Given the description of an element on the screen output the (x, y) to click on. 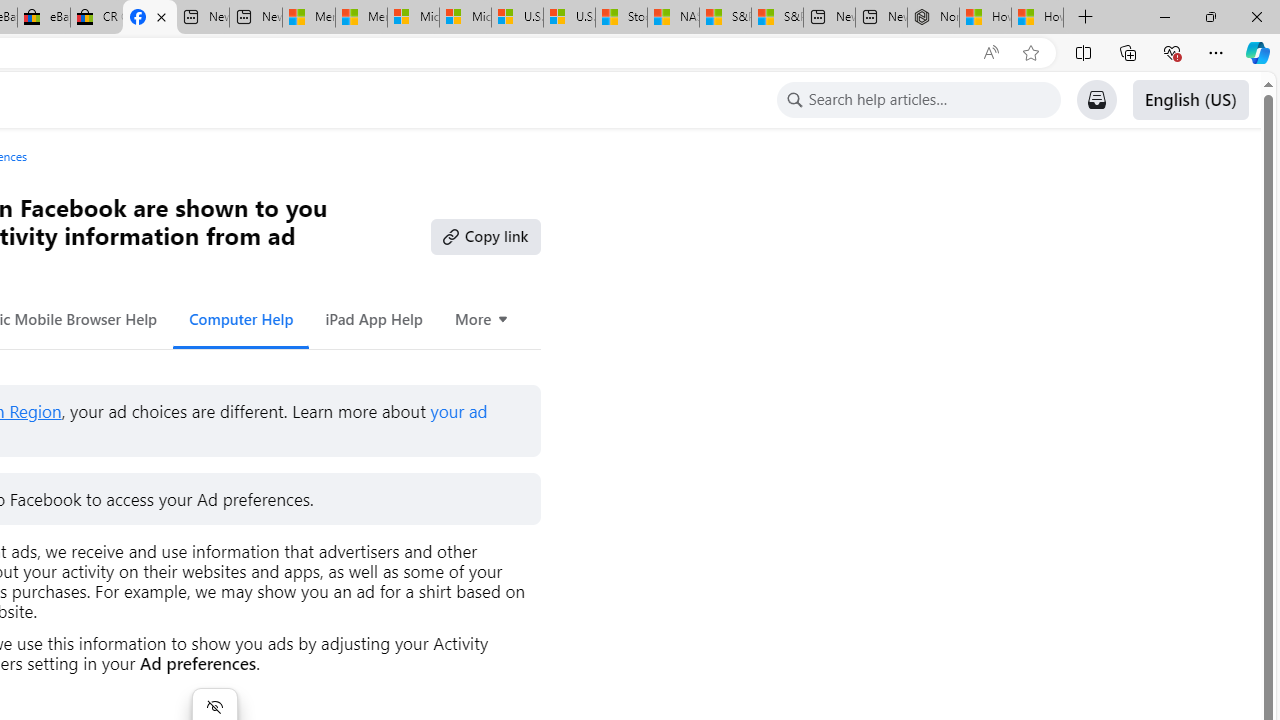
Class: x19dipnz x1lliihq x1tzjh5l x1k90msu x2h7rmj x1qfuztq (793, 100)
eBay Inc. Reports Third Quarter 2023 Results (43, 17)
Change Language: English (US) (1190, 99)
iPad App Help (373, 318)
